Given the description of an element on the screen output the (x, y) to click on. 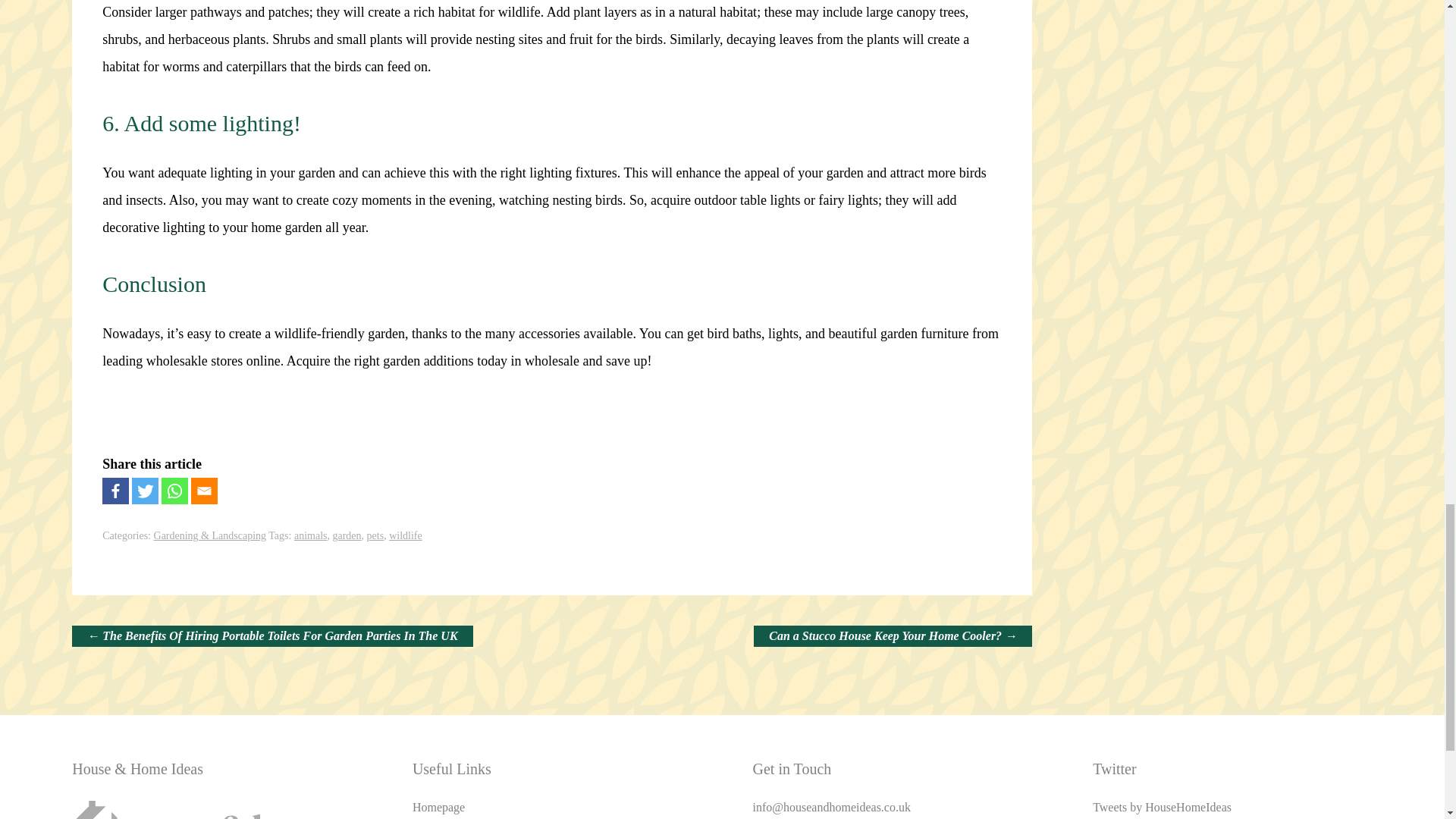
wildlife (405, 535)
pets (375, 535)
animals (310, 535)
garden (346, 535)
